Given the description of an element on the screen output the (x, y) to click on. 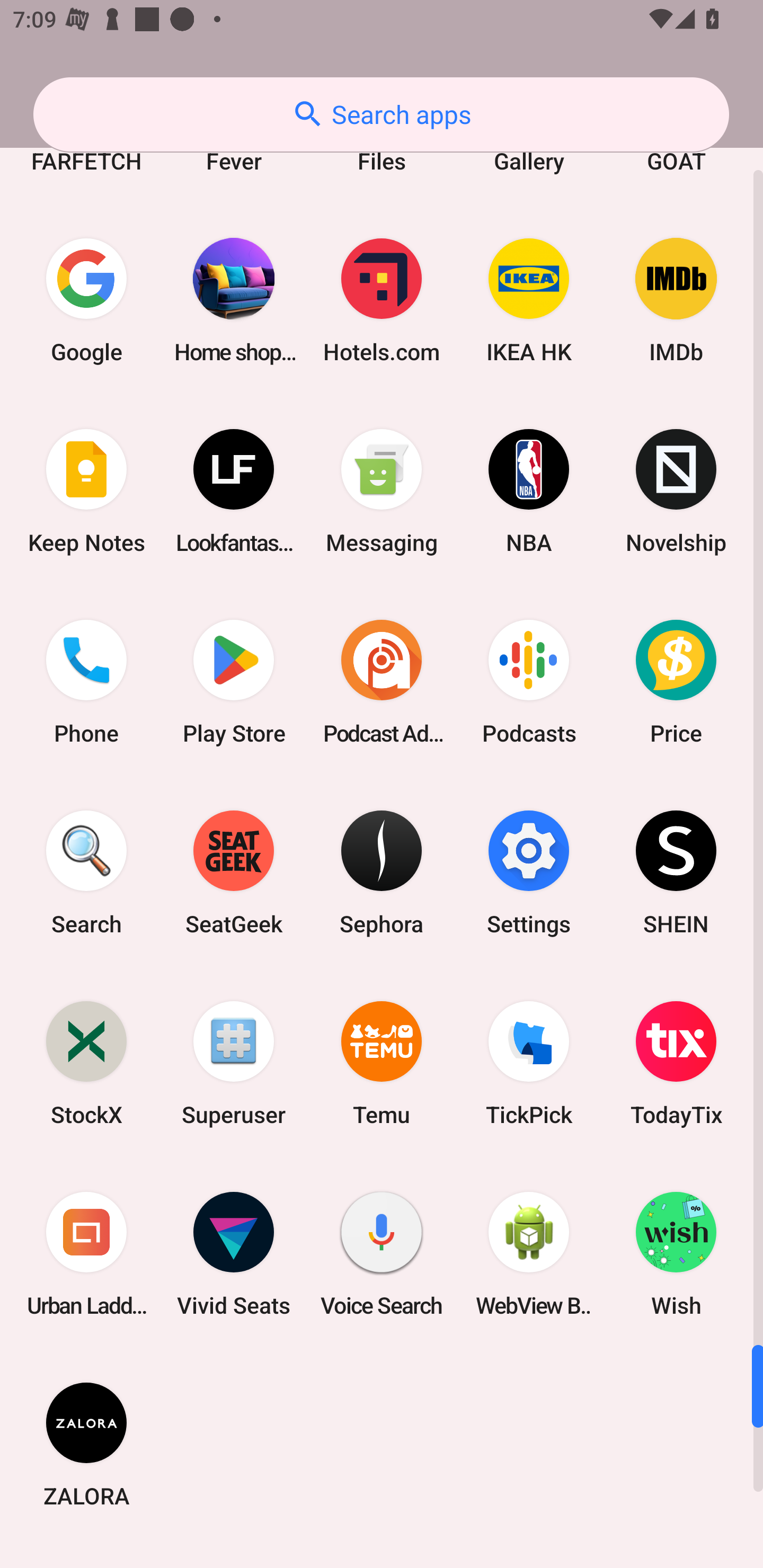
  Search apps (381, 114)
Google (86, 300)
Home shopping (233, 300)
Hotels.com (381, 300)
IKEA HK (528, 300)
IMDb (676, 300)
Keep Notes (86, 490)
Lookfantastic (233, 490)
Messaging (381, 490)
NBA (528, 490)
Novelship (676, 490)
Phone (86, 681)
Play Store (233, 681)
Podcast Addict (381, 681)
Podcasts (528, 681)
Price (676, 681)
Search (86, 872)
SeatGeek (233, 872)
Sephora (381, 872)
Settings (528, 872)
SHEIN (676, 872)
StockX (86, 1062)
Superuser (233, 1062)
Temu (381, 1062)
TickPick (528, 1062)
TodayTix (676, 1062)
Urban Ladder (86, 1253)
Vivid Seats (233, 1253)
Voice Search (381, 1253)
WebView Browser Tester (528, 1253)
Wish (676, 1253)
ZALORA (86, 1443)
